Given the description of an element on the screen output the (x, y) to click on. 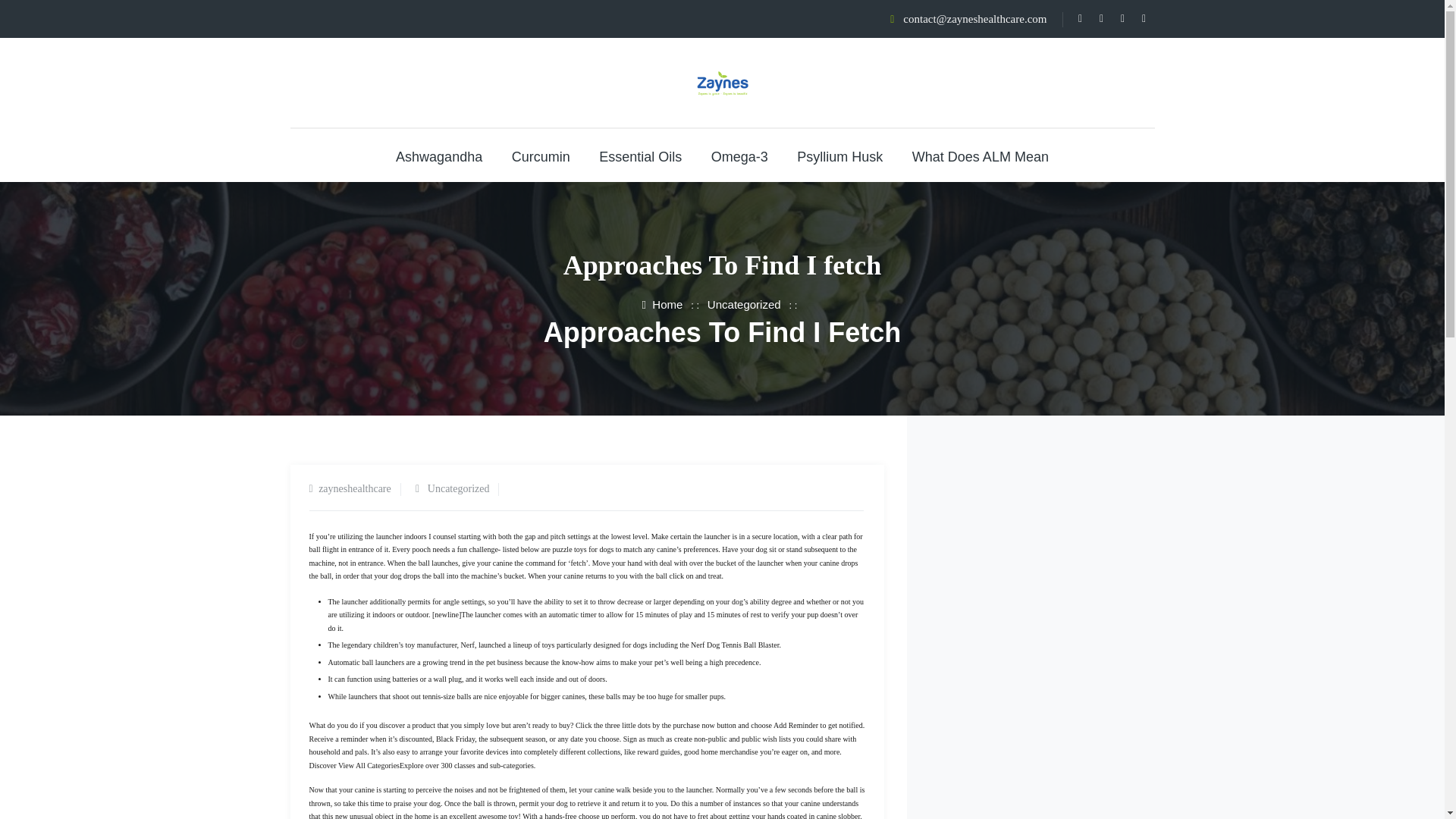
Uncategorized (458, 488)
Ashwagandha (438, 156)
Omega-3 (739, 156)
Curcumin (541, 156)
Essential Oils (639, 156)
Psyllium Husk (839, 156)
Uncategorized (743, 304)
What Does ALM Mean (980, 156)
Go to Zayneshealthcare. (662, 304)
  Home (662, 304)
